Given the description of an element on the screen output the (x, y) to click on. 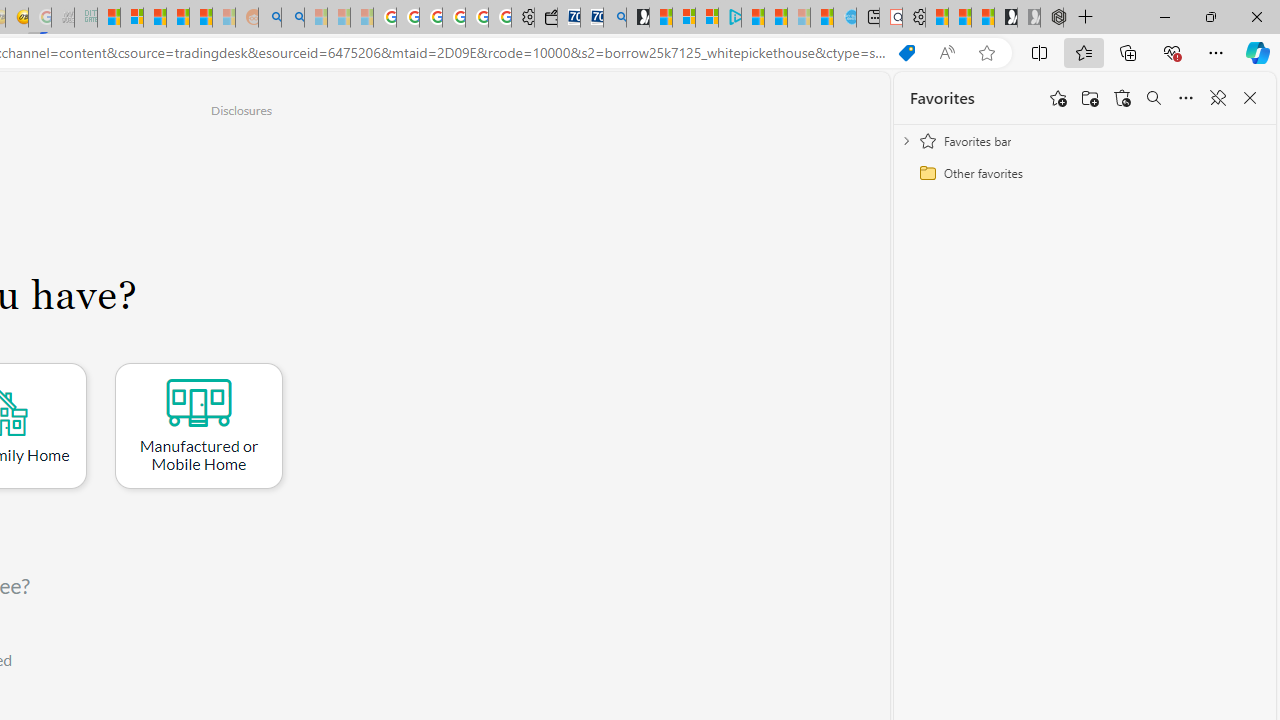
Microsoft account | Privacy (707, 17)
Add this page to favorites (1058, 98)
Disclosures (241, 110)
Home | Sky Blue Bikes - Sky Blue Bikes (845, 17)
Wallet (545, 17)
